Given the description of an element on the screen output the (x, y) to click on. 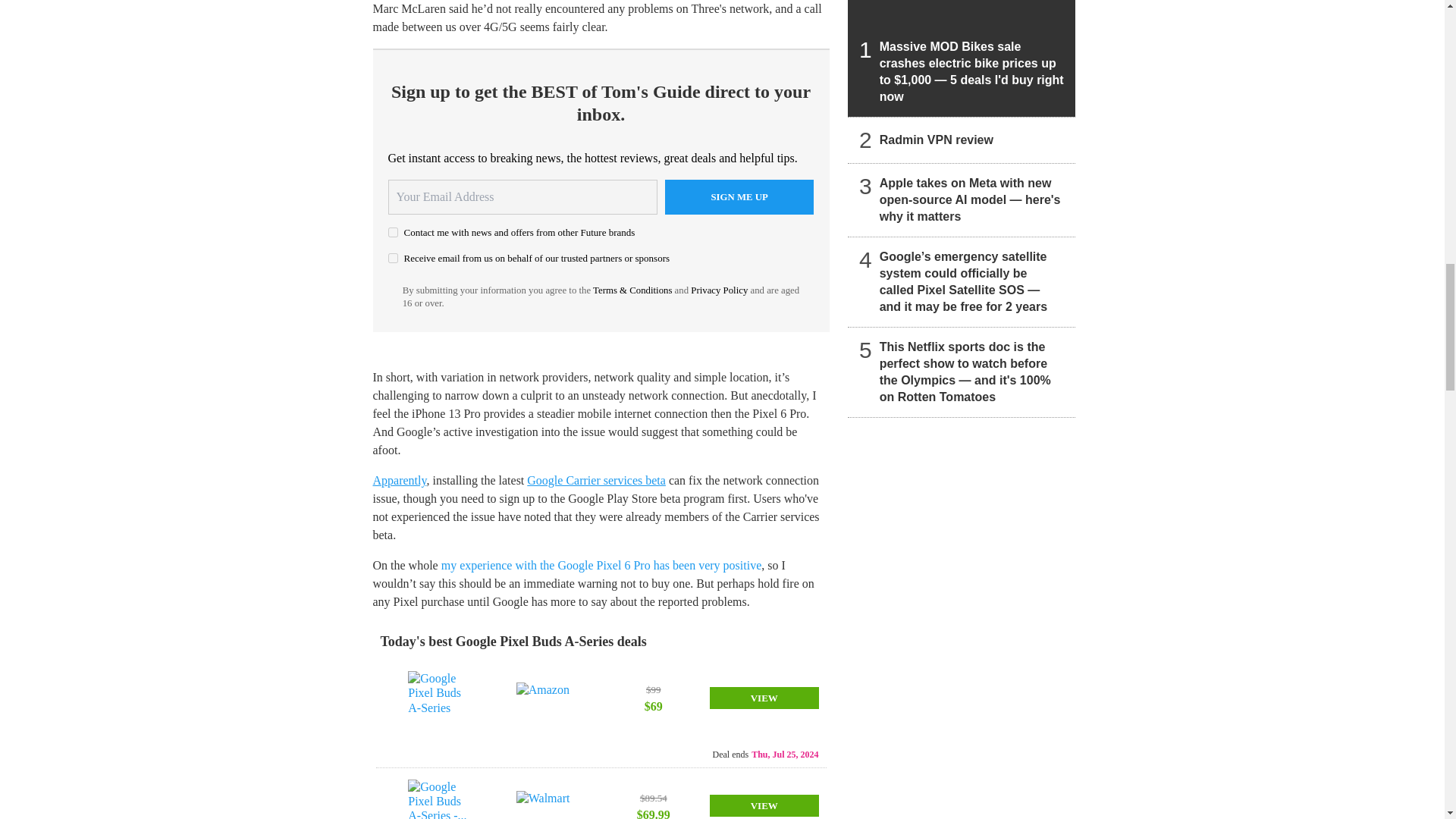
Google Pixel Buds A-Series (437, 696)
Walmart (546, 805)
Amazon (546, 697)
Google Pixel Buds A-Series -... (437, 799)
on (392, 257)
Sign me up (739, 196)
on (392, 232)
